Given the description of an element on the screen output the (x, y) to click on. 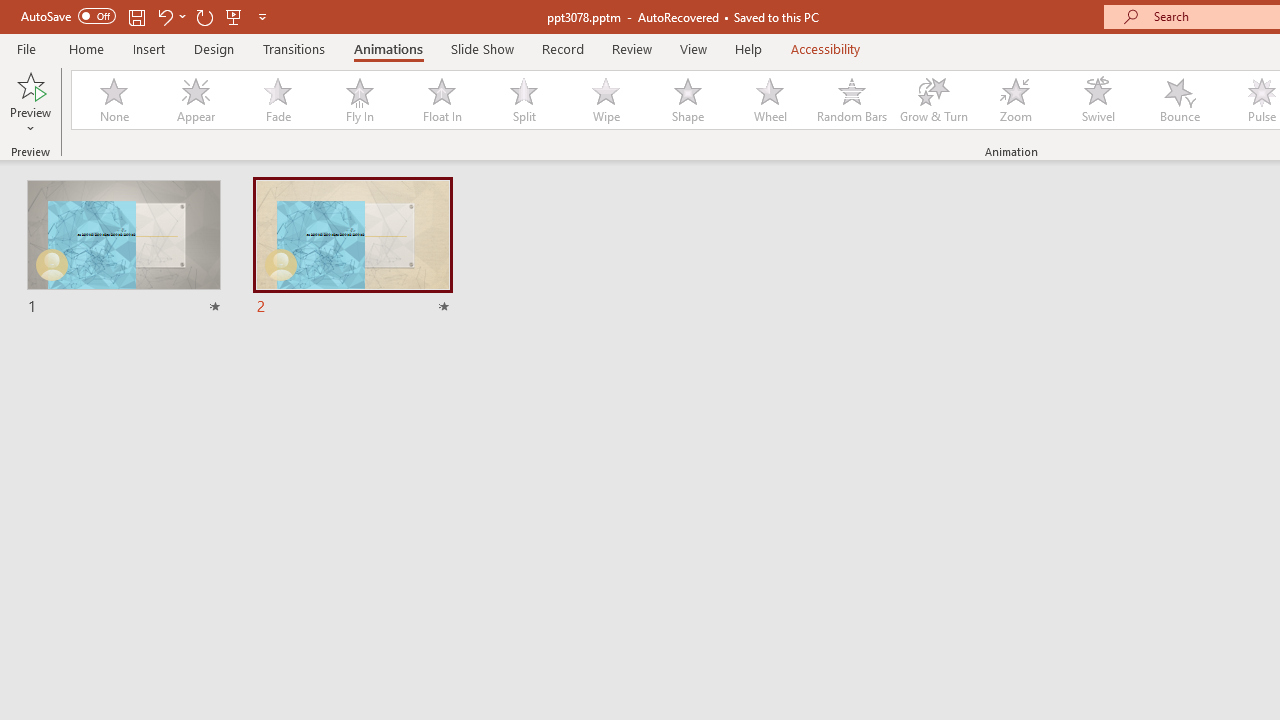
Shape (687, 100)
Wheel (770, 100)
Grow & Turn (934, 100)
Random Bars (852, 100)
Wipe (605, 100)
